Given the description of an element on the screen output the (x, y) to click on. 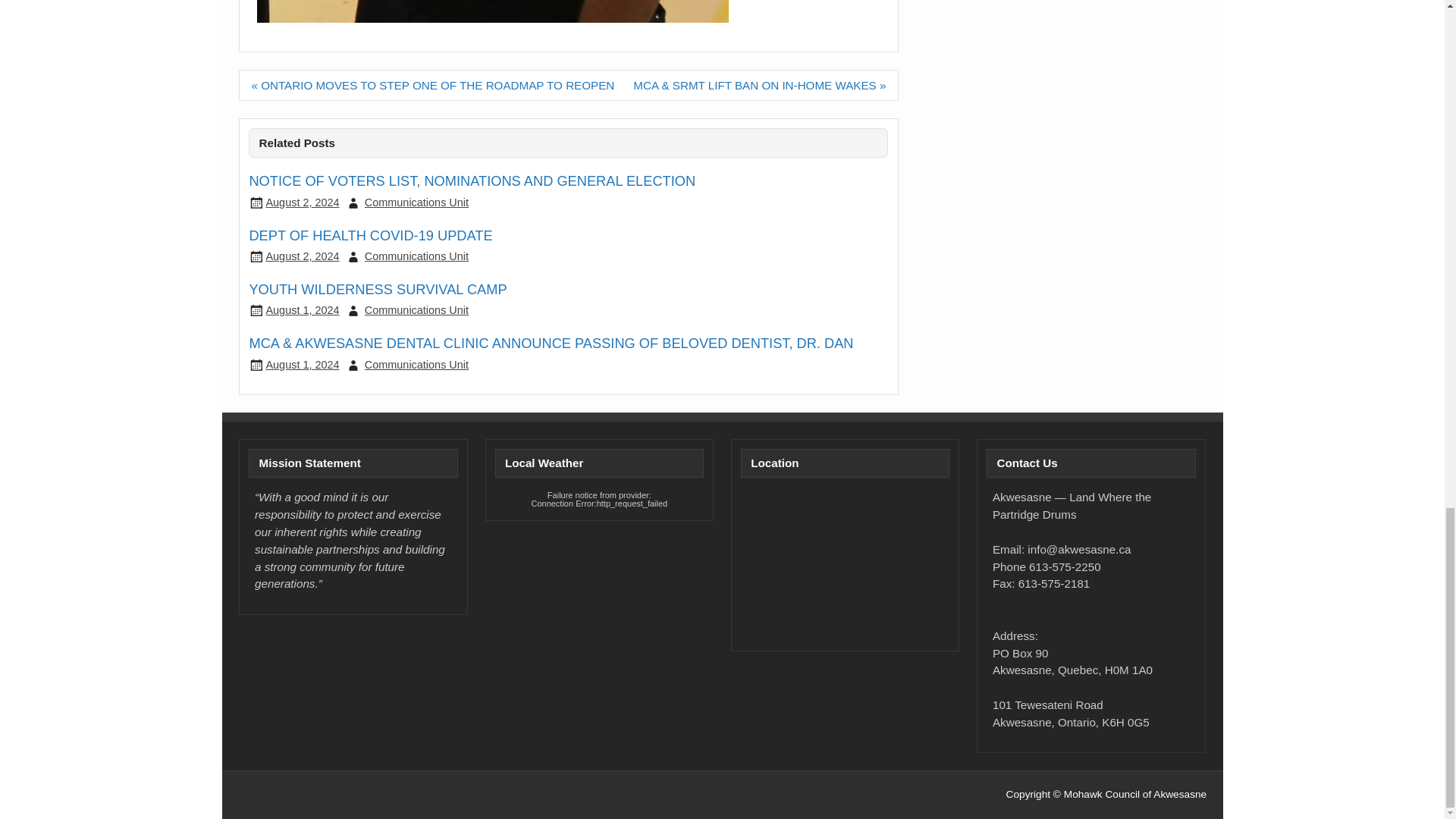
View all posts by Communications Unit (416, 202)
View all posts by Communications Unit (416, 256)
View all posts by Communications Unit (416, 364)
3:45 PM (301, 309)
10:39 AM (301, 256)
5:52 PM (301, 202)
10:17 AM (301, 364)
View all posts by Communications Unit (416, 309)
